Given the description of an element on the screen output the (x, y) to click on. 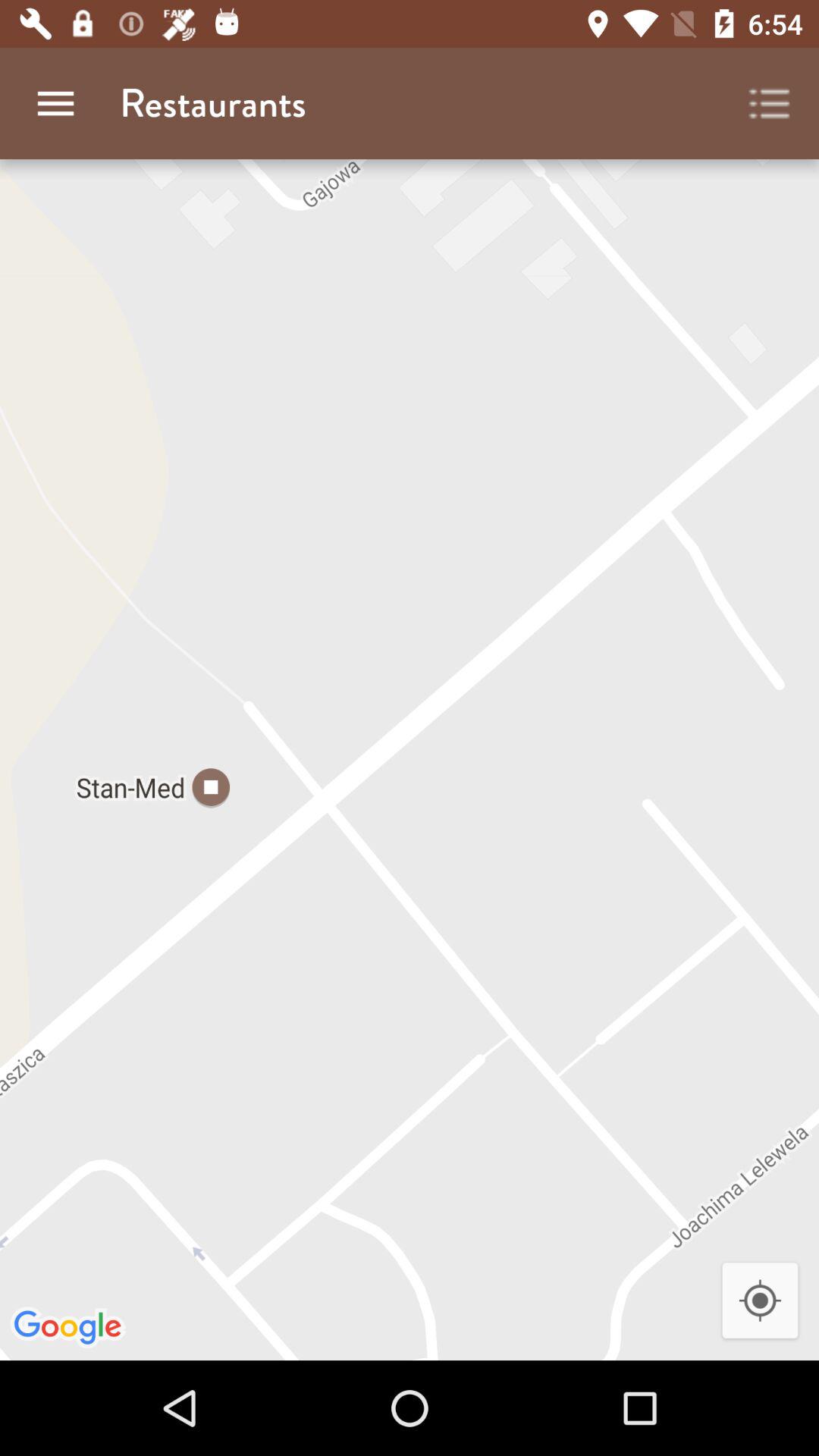
choose app next to the restaurants (55, 103)
